Given the description of an element on the screen output the (x, y) to click on. 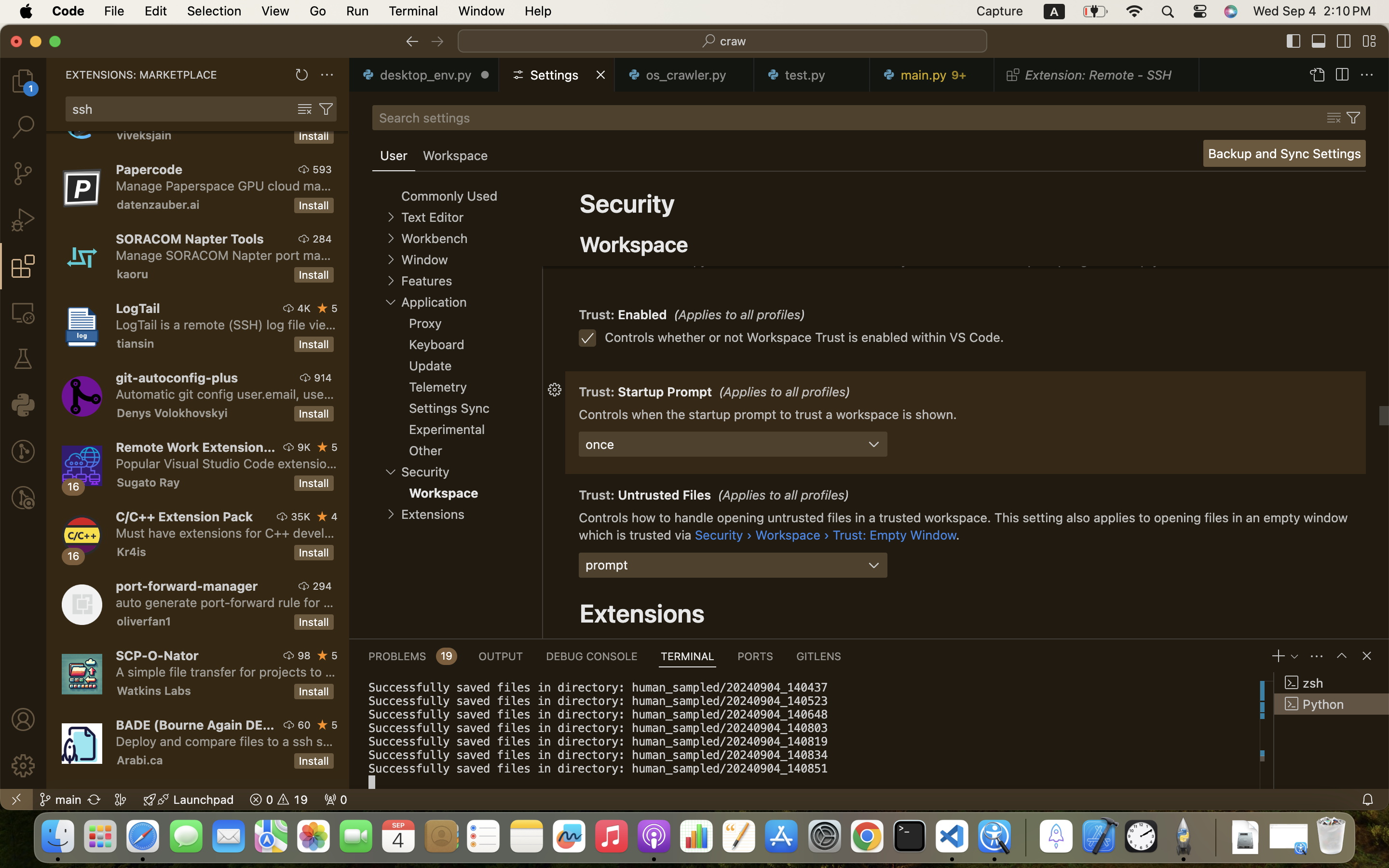
16 Element type: AXStaticText (73, 555)
kaoru Element type: AXStaticText (132, 273)
0  Element type: AXRadioButton (23, 219)
Workspace Element type: AXStaticText (633, 243)
Watkins Labs Element type: AXStaticText (153, 690)
